Given the description of an element on the screen output the (x, y) to click on. 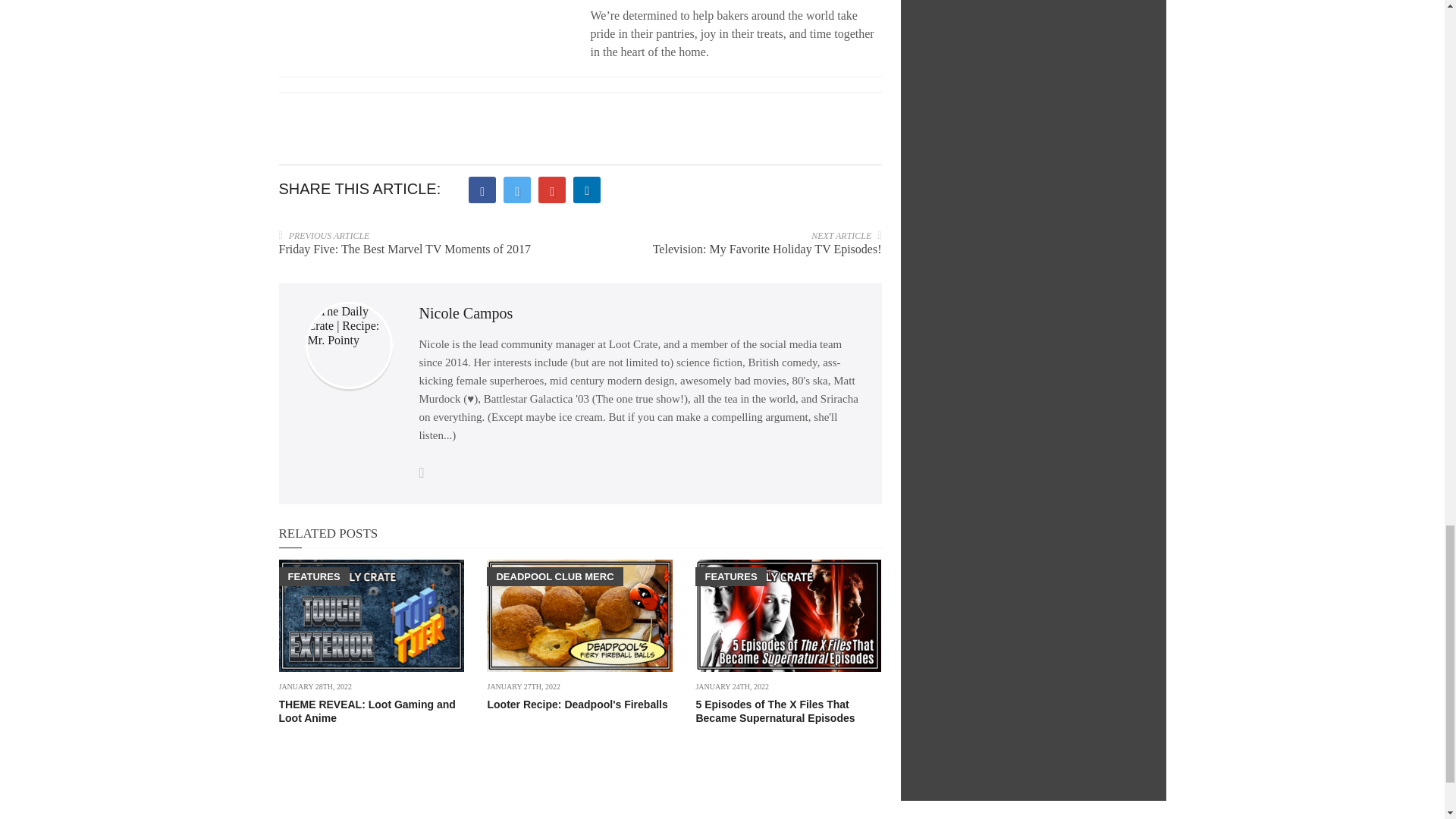
Nicole Campos (465, 313)
Looter Recipe: Deadpool's Fireballs (576, 704)
Friday Five: The Best Marvel TV Moments of 2017 (405, 248)
THEME REVEAL: Loot Gaming and Loot Anime (367, 710)
FEATURES (314, 576)
DEADPOOL CLUB MERC (554, 576)
Television:  My Favorite Holiday TV Episodes! (767, 248)
BACK TO TOP (1112, 809)
Posts by Nicole Campos (465, 313)
Friday Five: The Best Marvel TV Moments of 2017 (405, 248)
Television: My Favorite Holiday TV Episodes! (767, 248)
